Given the description of an element on the screen output the (x, y) to click on. 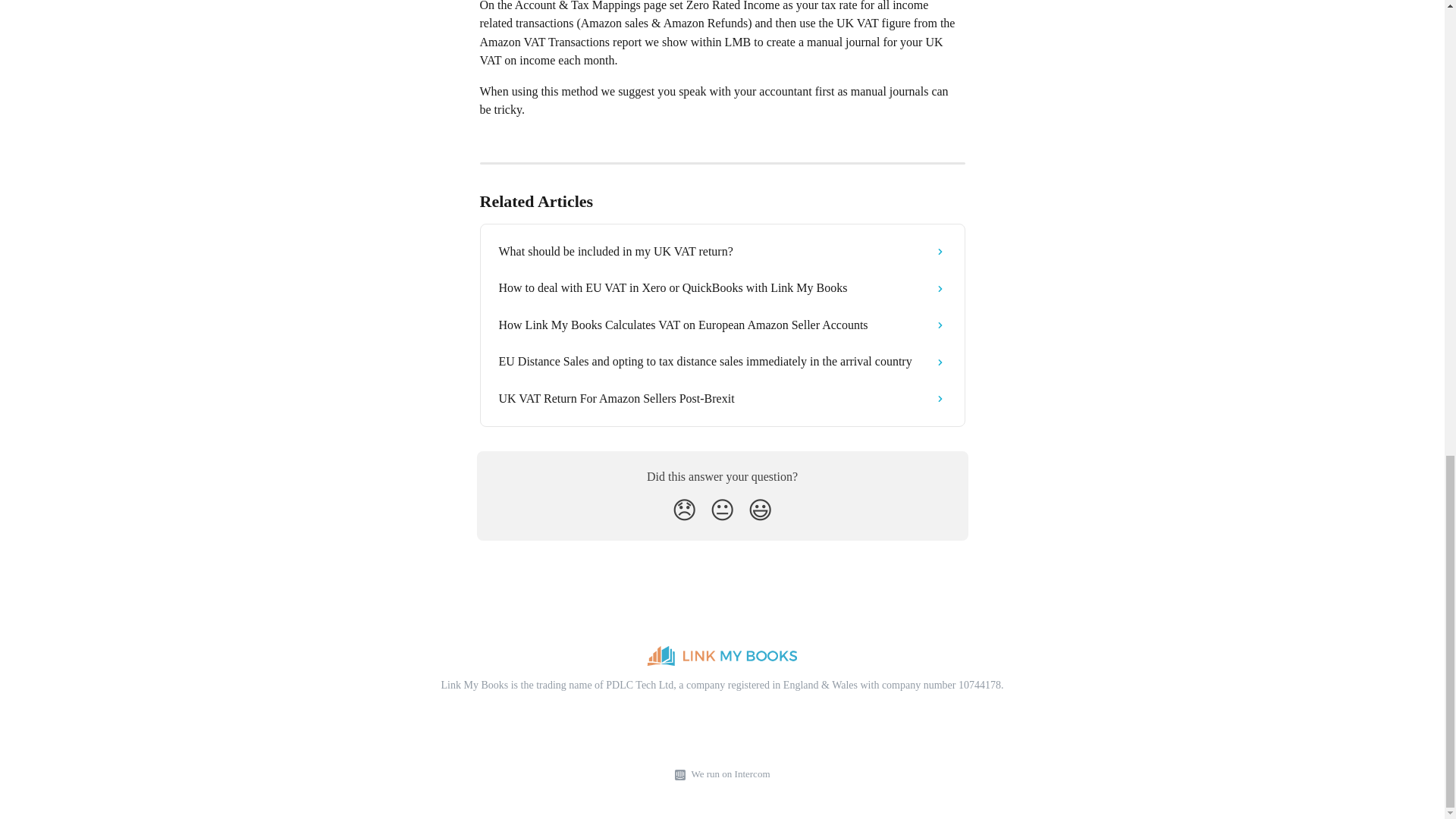
Smiley (760, 510)
UK VAT Return For Amazon Sellers Post-Brexit (722, 398)
Disappointed (684, 510)
We run on Intercom (727, 774)
What should be included in my UK VAT return? (722, 251)
Neutral (722, 510)
